Given the description of an element on the screen output the (x, y) to click on. 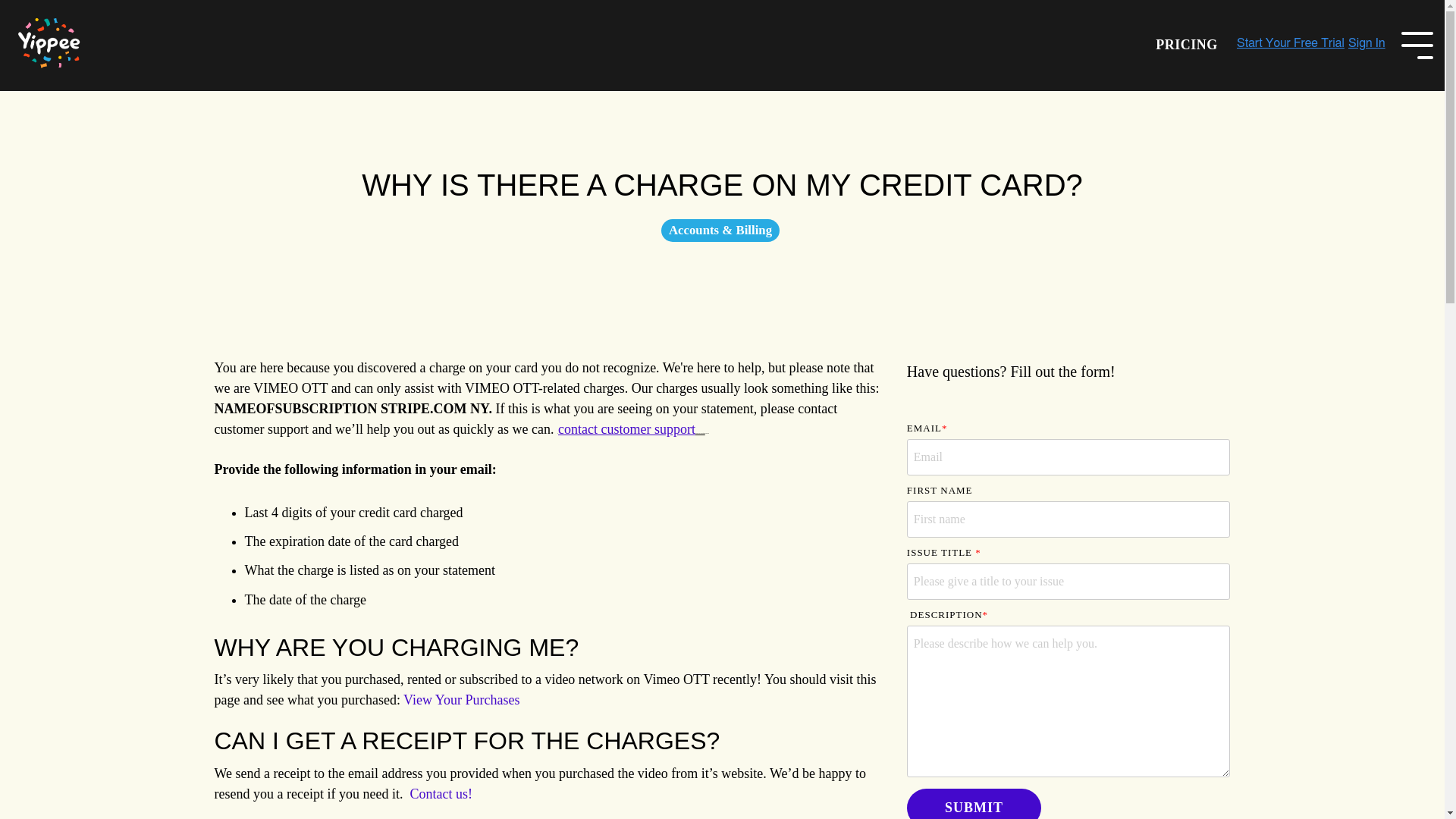
Submit (974, 803)
Toggle Menu (1416, 43)
Yippee TV logo (49, 45)
contact customer support (626, 428)
Submit (974, 803)
View Your Purchases (461, 699)
Contact us! (440, 793)
PRICING (1186, 44)
